Given the description of an element on the screen output the (x, y) to click on. 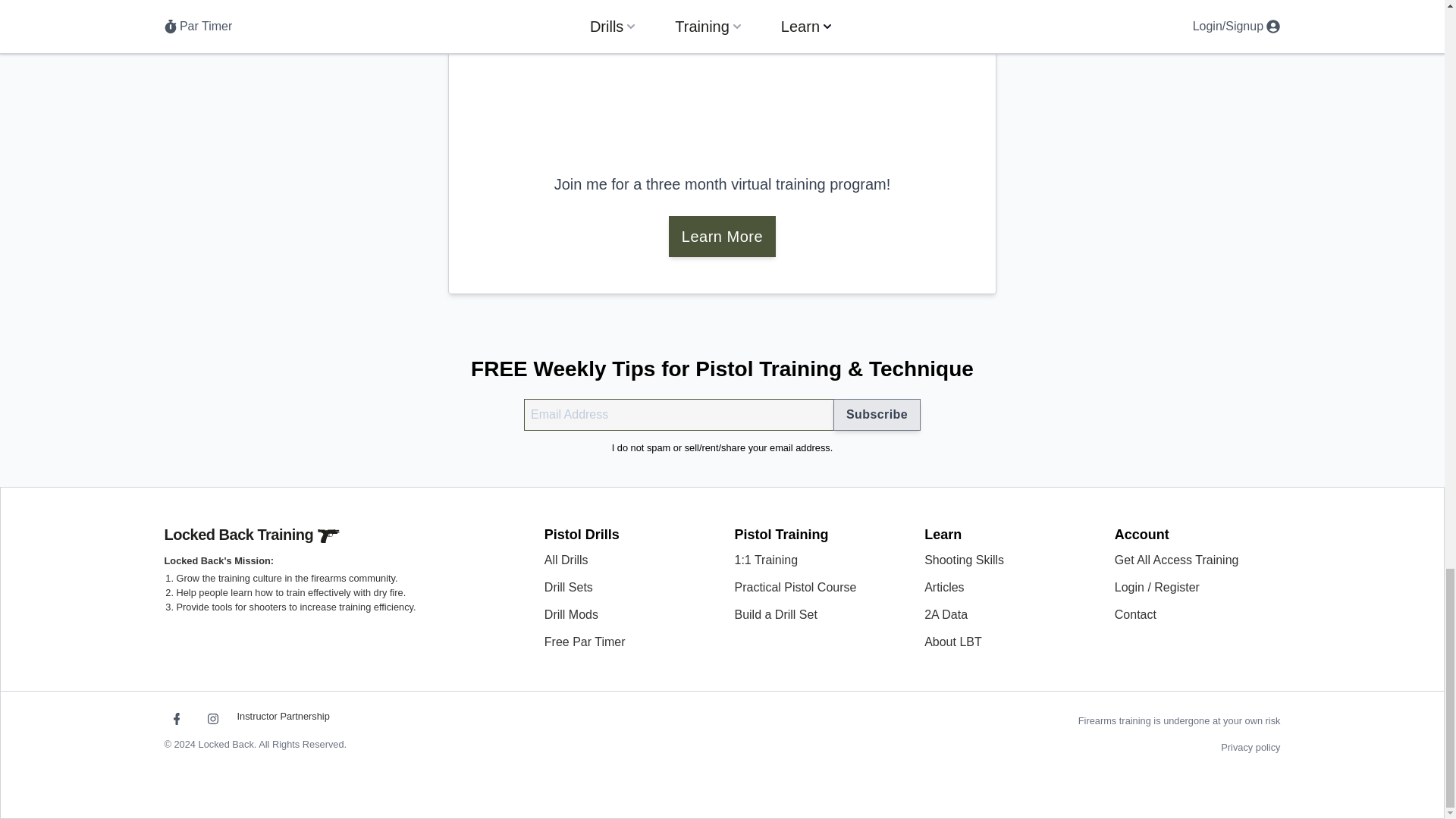
Subscribe (876, 414)
Drill Sets (568, 587)
Locked Back Training (251, 534)
Drill Mods (571, 614)
All Drills (566, 559)
1:1 Training (765, 559)
Learn More (722, 236)
Free Par Timer (585, 641)
Practical Pistol Course (721, 70)
Practical Pistol Course (794, 587)
Locked Back's Mission: (218, 560)
